Given the description of an element on the screen output the (x, y) to click on. 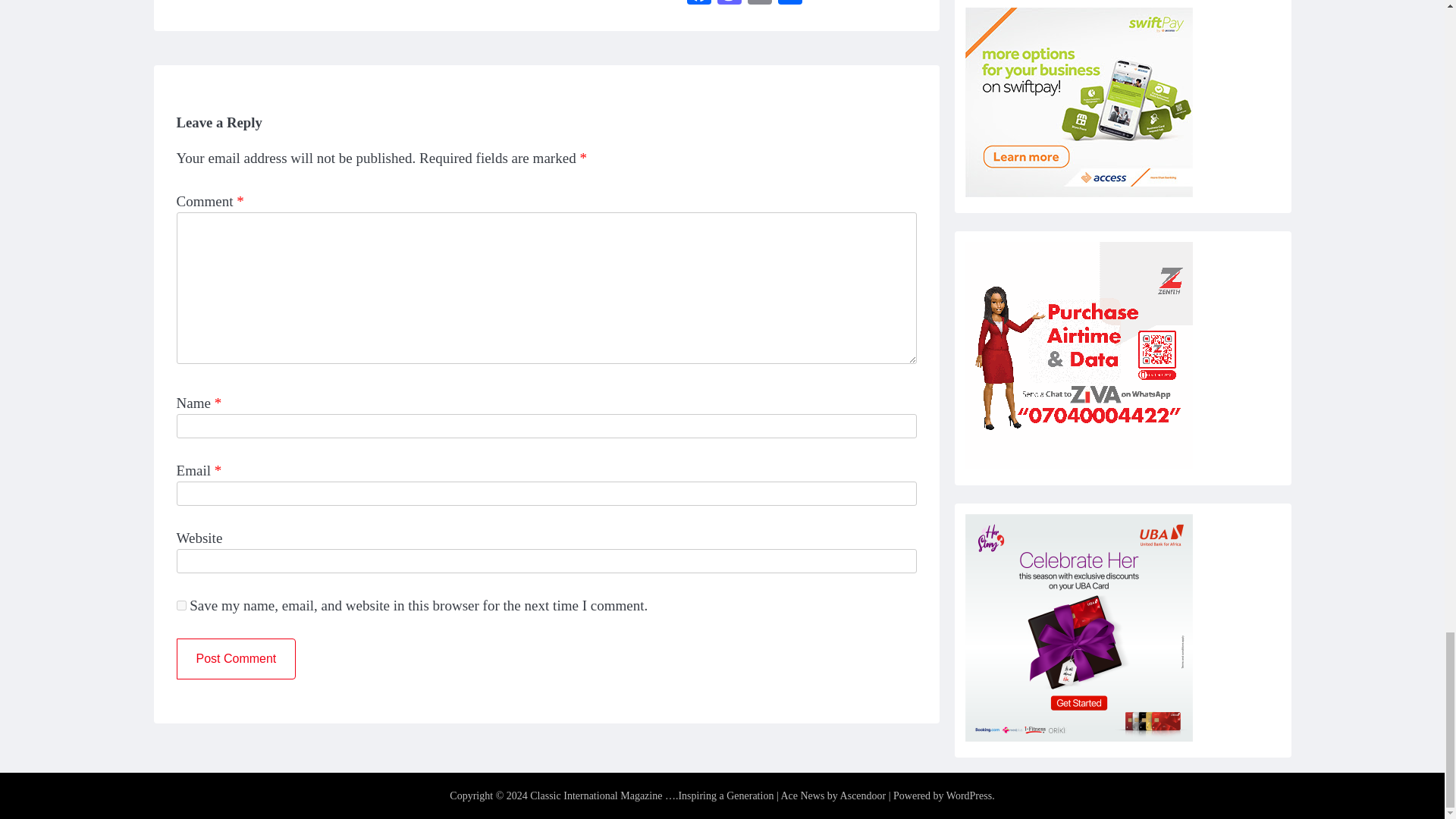
yes (181, 605)
Post Comment (235, 658)
Email (759, 4)
Mastodon (729, 4)
Facebook (699, 4)
